Given the description of an element on the screen output the (x, y) to click on. 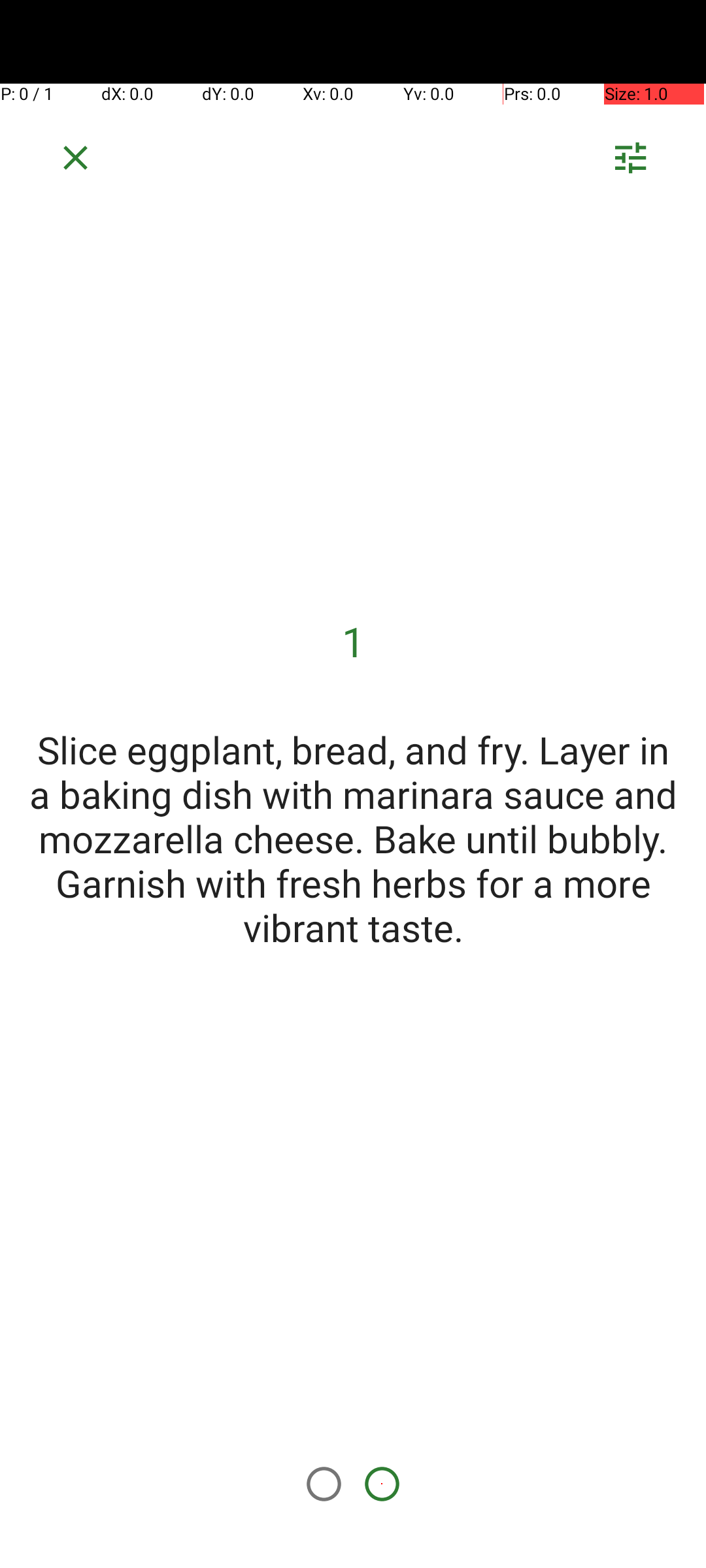
Slice eggplant, bread, and fry. Layer in a baking dish with marinara sauce and mozzarella cheese. Bake until bubbly. Garnish with fresh herbs for a more vibrant taste. Element type: android.widget.TextView (352, 837)
